Given the description of an element on the screen output the (x, y) to click on. 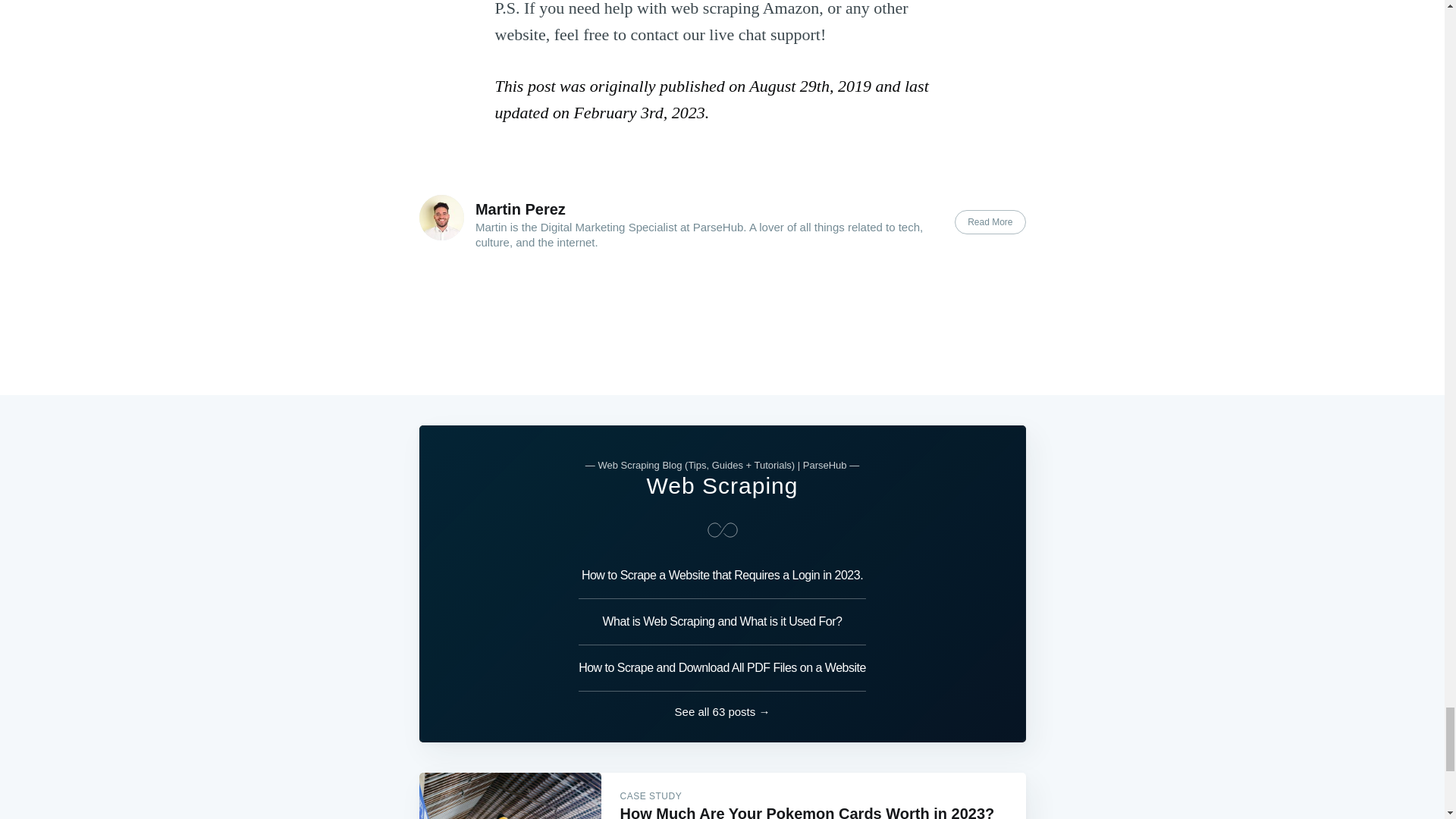
Martin Perez (521, 208)
How to Scrape a Website that Requires a Login in 2023. (722, 579)
How to Scrape and Download All PDF Files on a Website (722, 668)
Web Scraping (721, 485)
Read More (990, 221)
What is Web Scraping and What is it Used For? (722, 621)
